Given the description of an element on the screen output the (x, y) to click on. 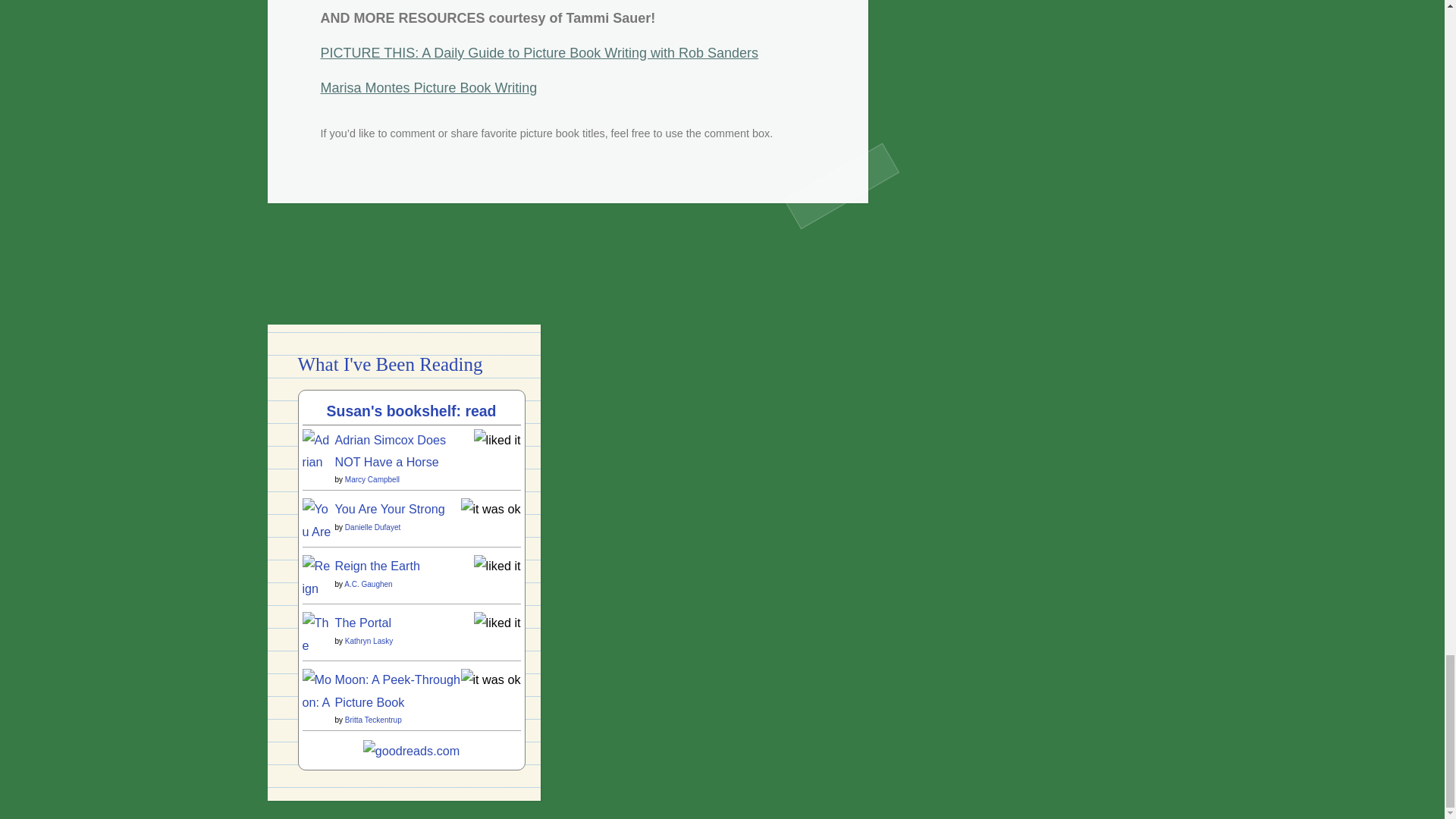
it was ok (491, 508)
liked it (497, 439)
You Are Your Strong (316, 597)
Adrian Simcox Does NOT Have a Horse (316, 639)
liked it (497, 565)
